Given the description of an element on the screen output the (x, y) to click on. 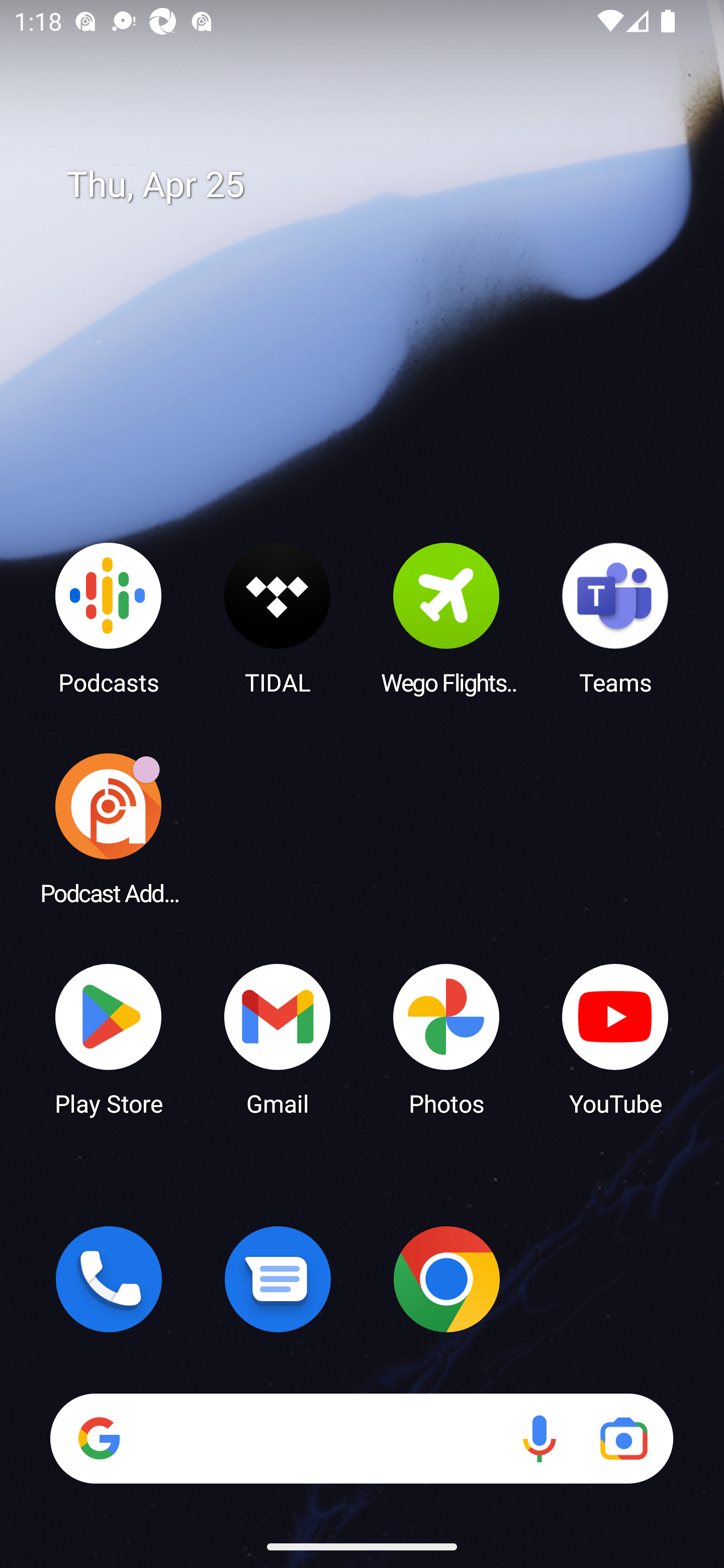
Thu, Apr 25 (375, 184)
Podcasts (108, 617)
TIDAL (277, 617)
Wego Flights & Hotels (445, 617)
Teams (615, 617)
Play Store (108, 1038)
Gmail (277, 1038)
Photos (445, 1038)
YouTube (615, 1038)
Phone (108, 1279)
Messages (277, 1279)
Chrome (446, 1279)
Search Voice search Google Lens (361, 1438)
Voice search (539, 1438)
Google Lens (623, 1438)
